Given the description of an element on the screen output the (x, y) to click on. 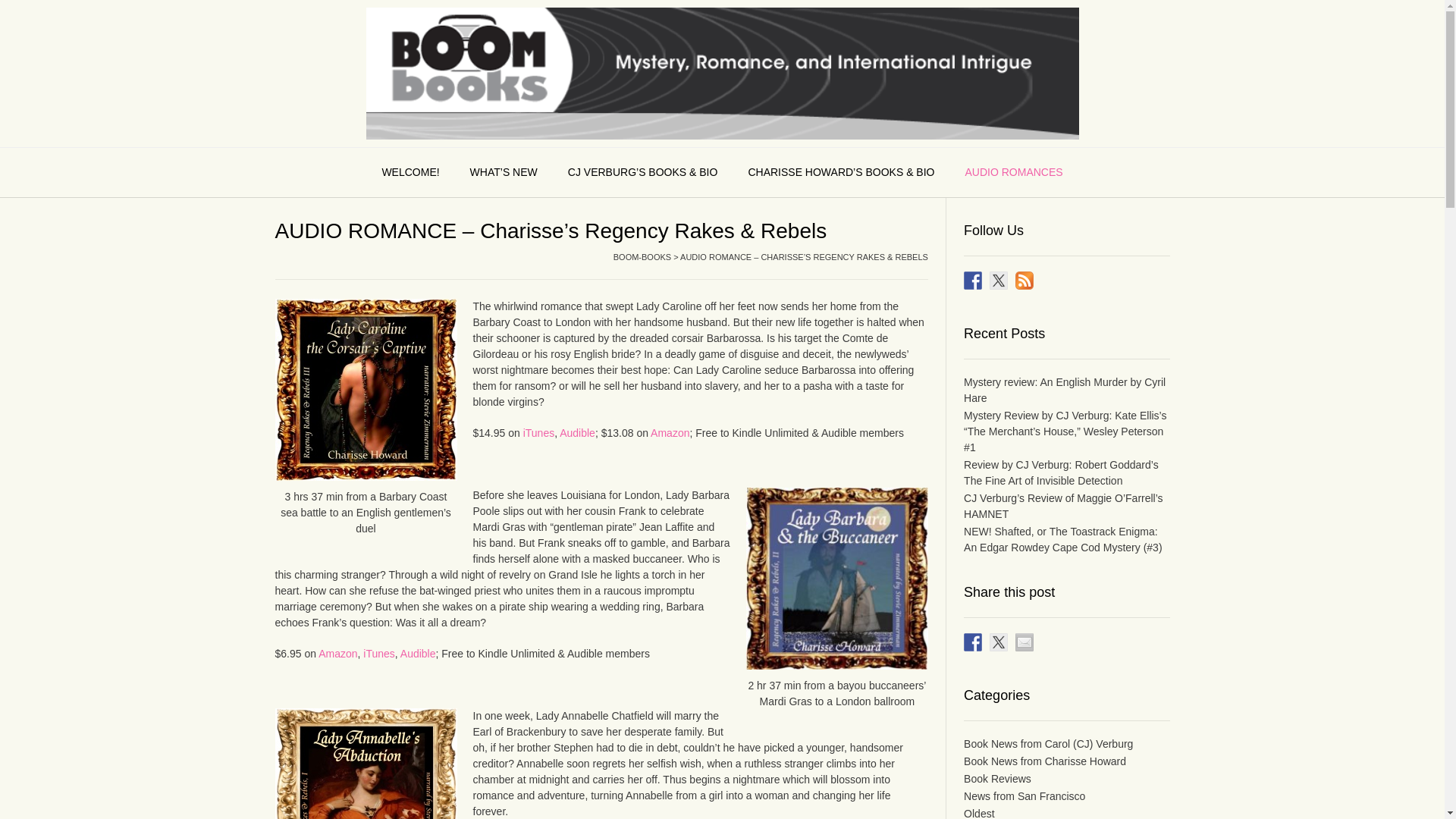
Mystery review: An English Murder by Cyril Hare (1064, 389)
Share on Twitter (998, 642)
AUDIO ROMANCES (1013, 173)
Subscribe to our RSS Feed (1023, 280)
Amazon (337, 653)
BOOM-BOOKS (641, 256)
Boom-Books (721, 73)
Audible (577, 431)
Oldest (978, 813)
Follow us on Twitter (998, 280)
Book News from Charisse Howard (1044, 761)
Share on Facebook (972, 642)
Audible (417, 653)
Amazon (669, 431)
News from San Francisco (1023, 796)
